Given the description of an element on the screen output the (x, y) to click on. 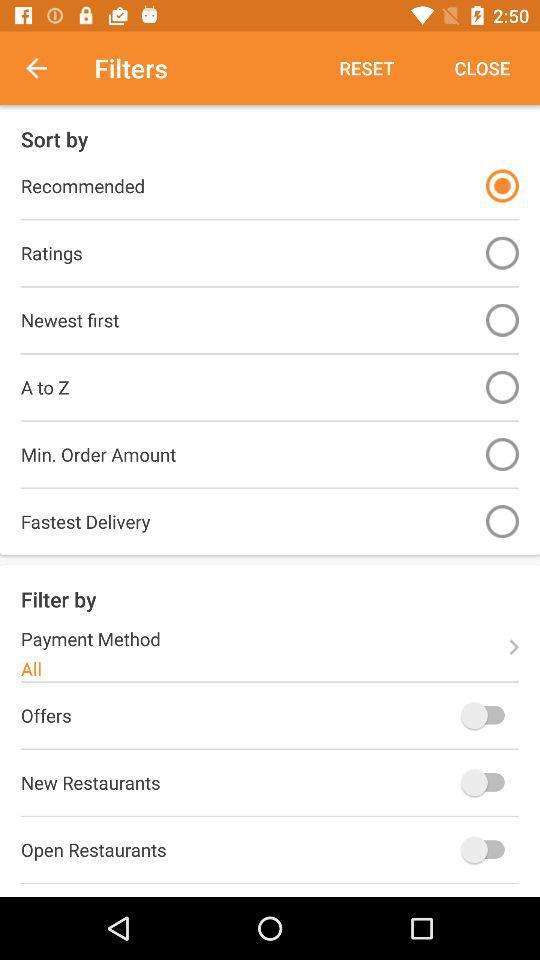
select a to z filter (502, 386)
